Given the description of an element on the screen output the (x, y) to click on. 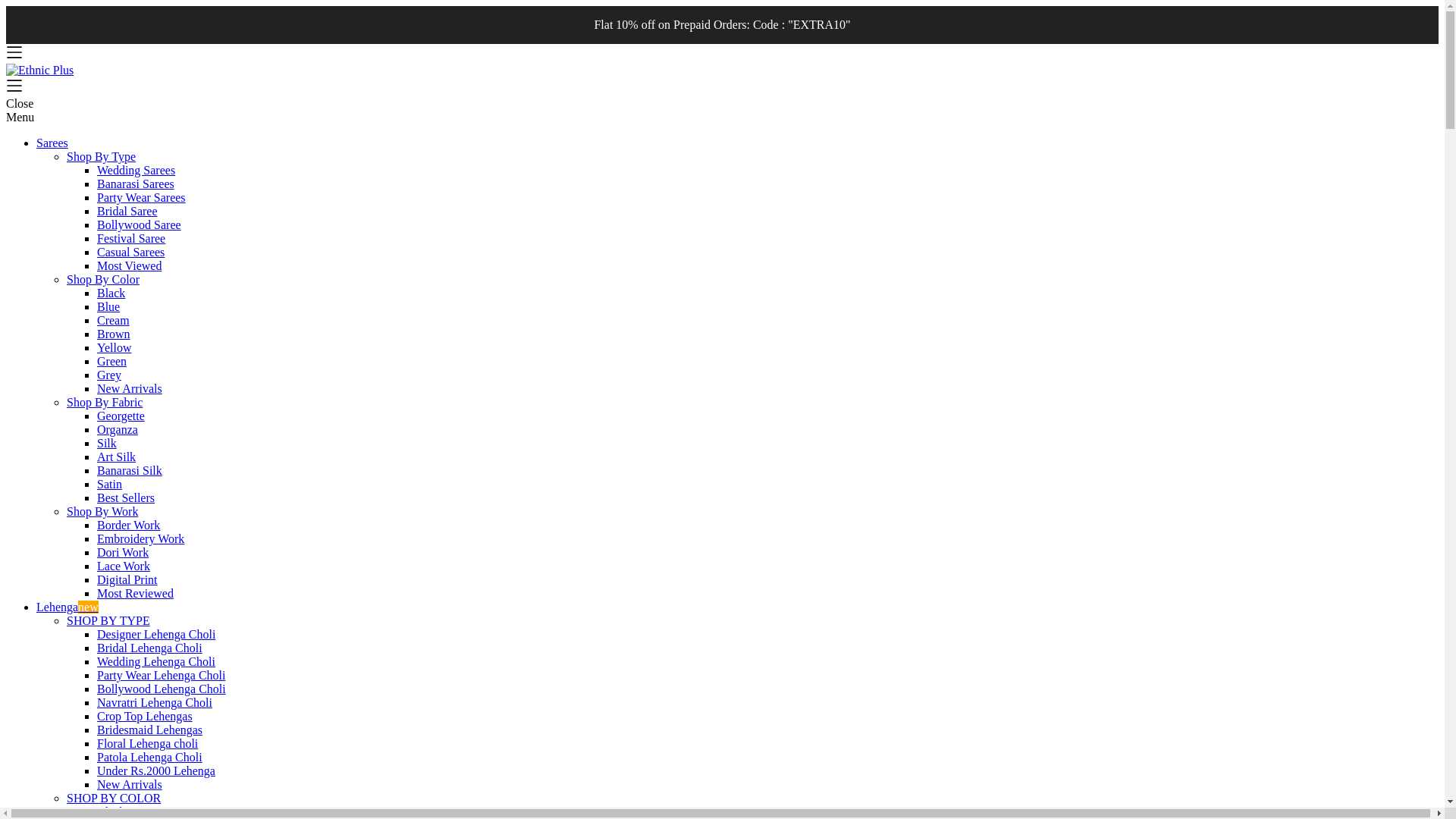
Most Reviewed (135, 593)
Menu (19, 116)
Casual Sarees (130, 251)
Banarasi Silk (129, 470)
Silk (106, 442)
Lehenganew (67, 606)
Ethnic Plus (39, 69)
Cream (113, 319)
Shop By Fabric (104, 401)
Dori Work (122, 552)
Banarasi Sarees (135, 183)
Organza (117, 429)
Lace Work (123, 565)
Wedding Sarees (135, 169)
Border Work (128, 524)
